Given the description of an element on the screen output the (x, y) to click on. 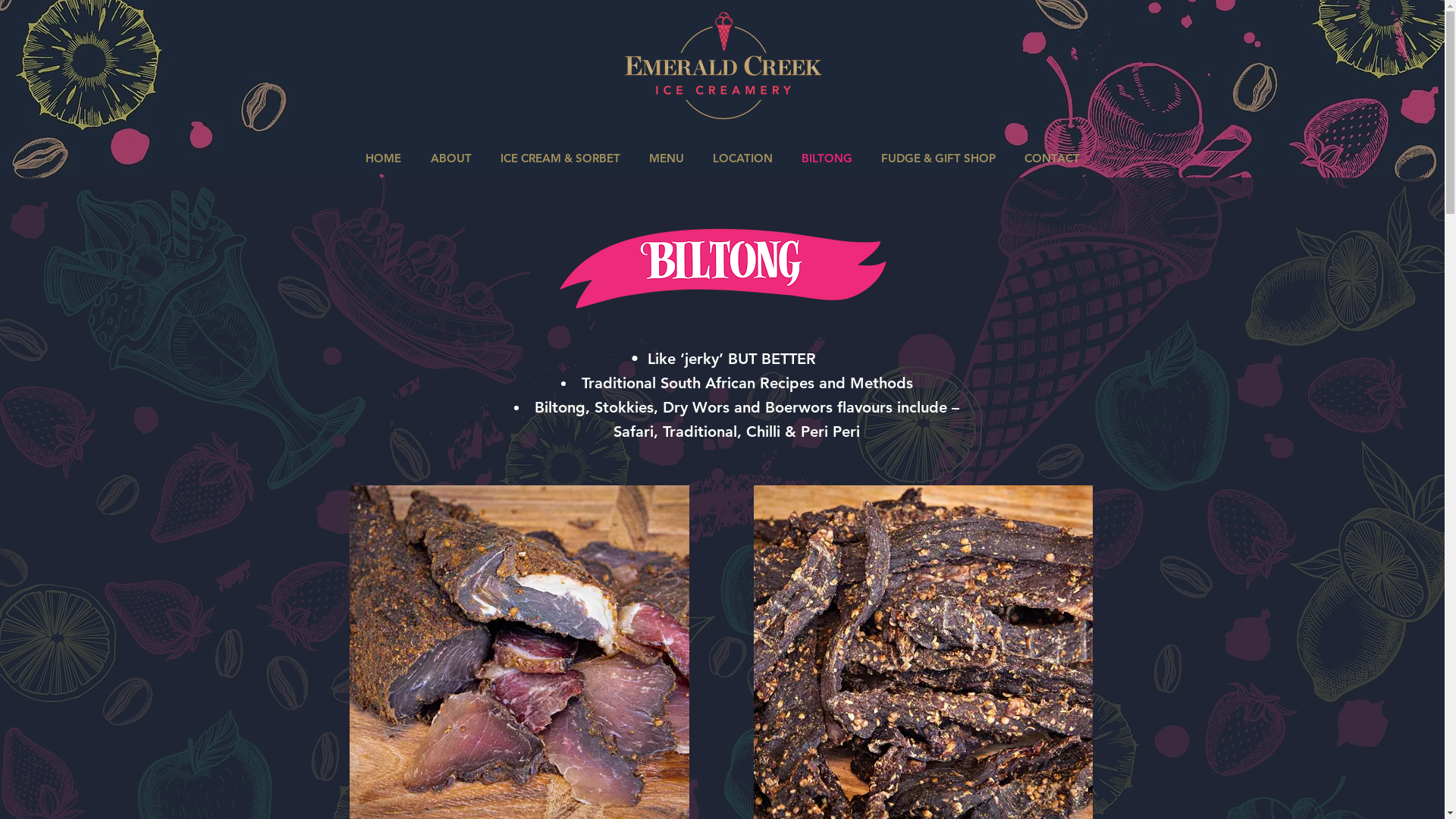
LOCATION Element type: text (741, 158)
ABOUT Element type: text (450, 158)
CONTACT Element type: text (1052, 158)
BILTONG Element type: text (826, 158)
FUDGE & GIFT SHOP Element type: text (937, 158)
HOME Element type: text (382, 158)
MENU Element type: text (665, 158)
ICE CREAM & SORBET Element type: text (559, 158)
